Given the description of an element on the screen output the (x, y) to click on. 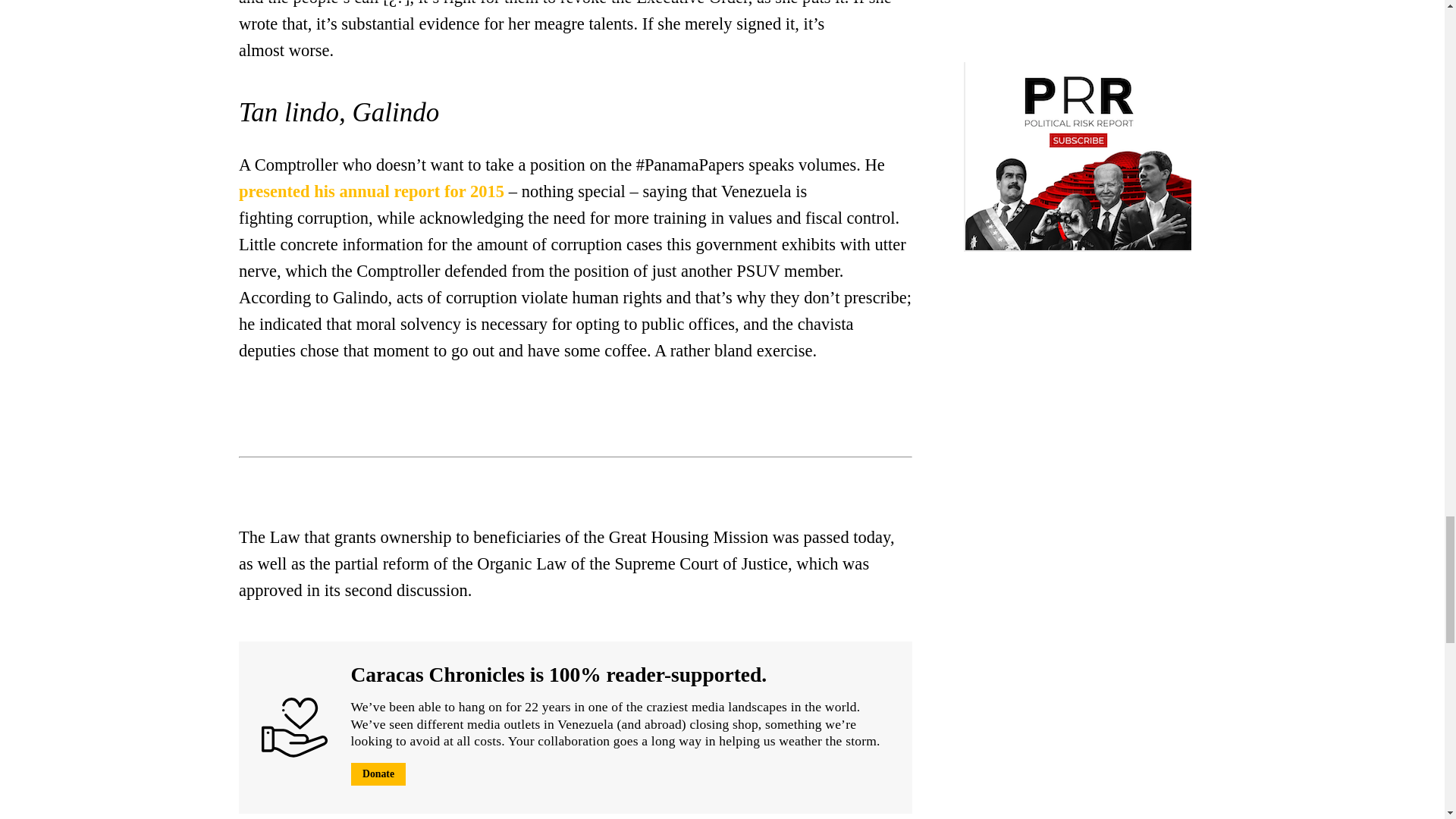
presented his annual report for 2015 (370, 190)
Donate (378, 773)
